Given the description of an element on the screen output the (x, y) to click on. 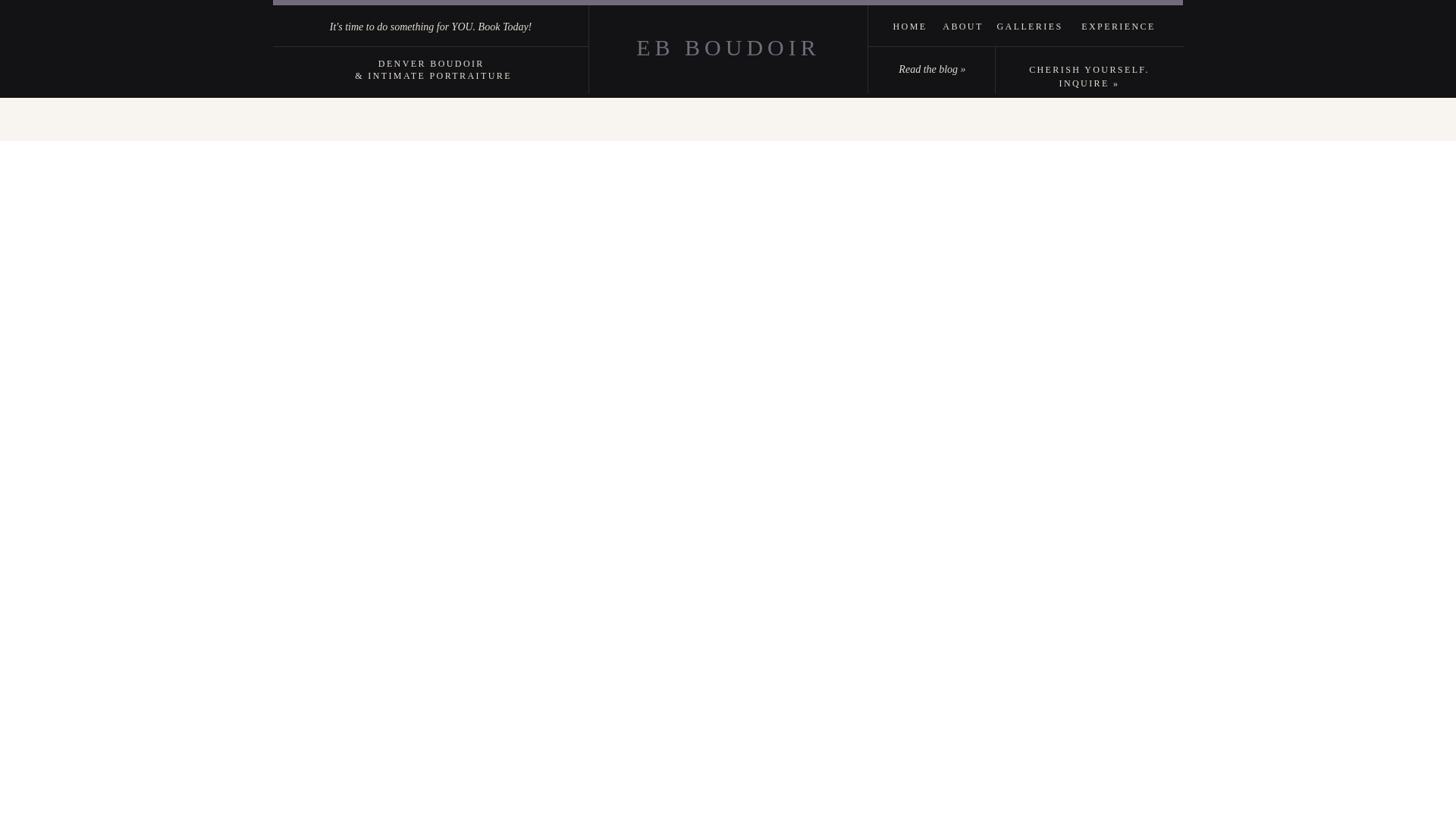
EB BOUDOIR (728, 46)
It's time to do something for YOU. Book Today! (430, 26)
HOME (909, 26)
EXPERIENCE (1117, 26)
GALLERIES (1028, 26)
ABOUT (962, 26)
